Given the description of an element on the screen output the (x, y) to click on. 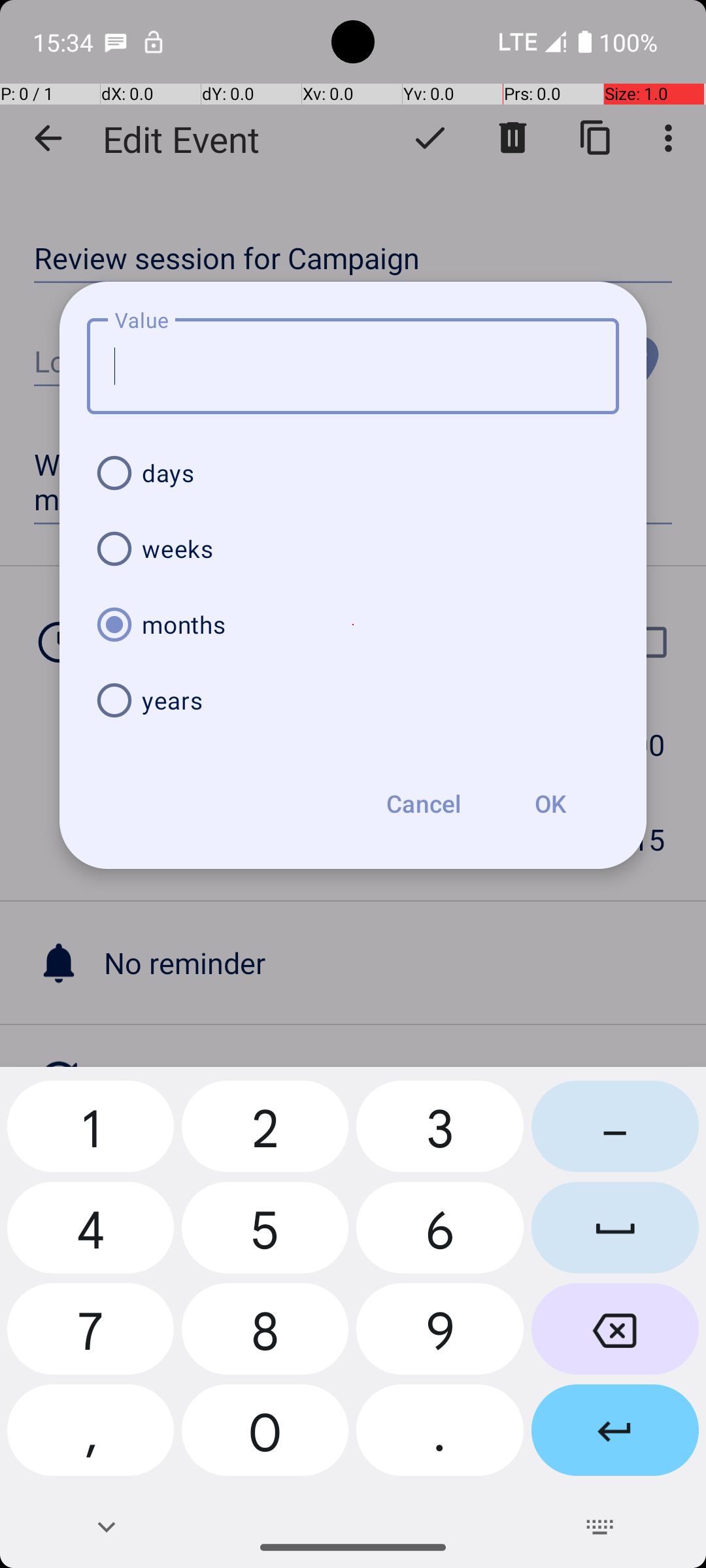
Value Element type: android.widget.EditText (352, 366)
days Element type: android.widget.RadioButton (352, 472)
weeks Element type: android.widget.RadioButton (352, 548)
months Element type: android.widget.RadioButton (352, 624)
years Element type: android.widget.RadioButton (352, 700)
